Given the description of an element on the screen output the (x, y) to click on. 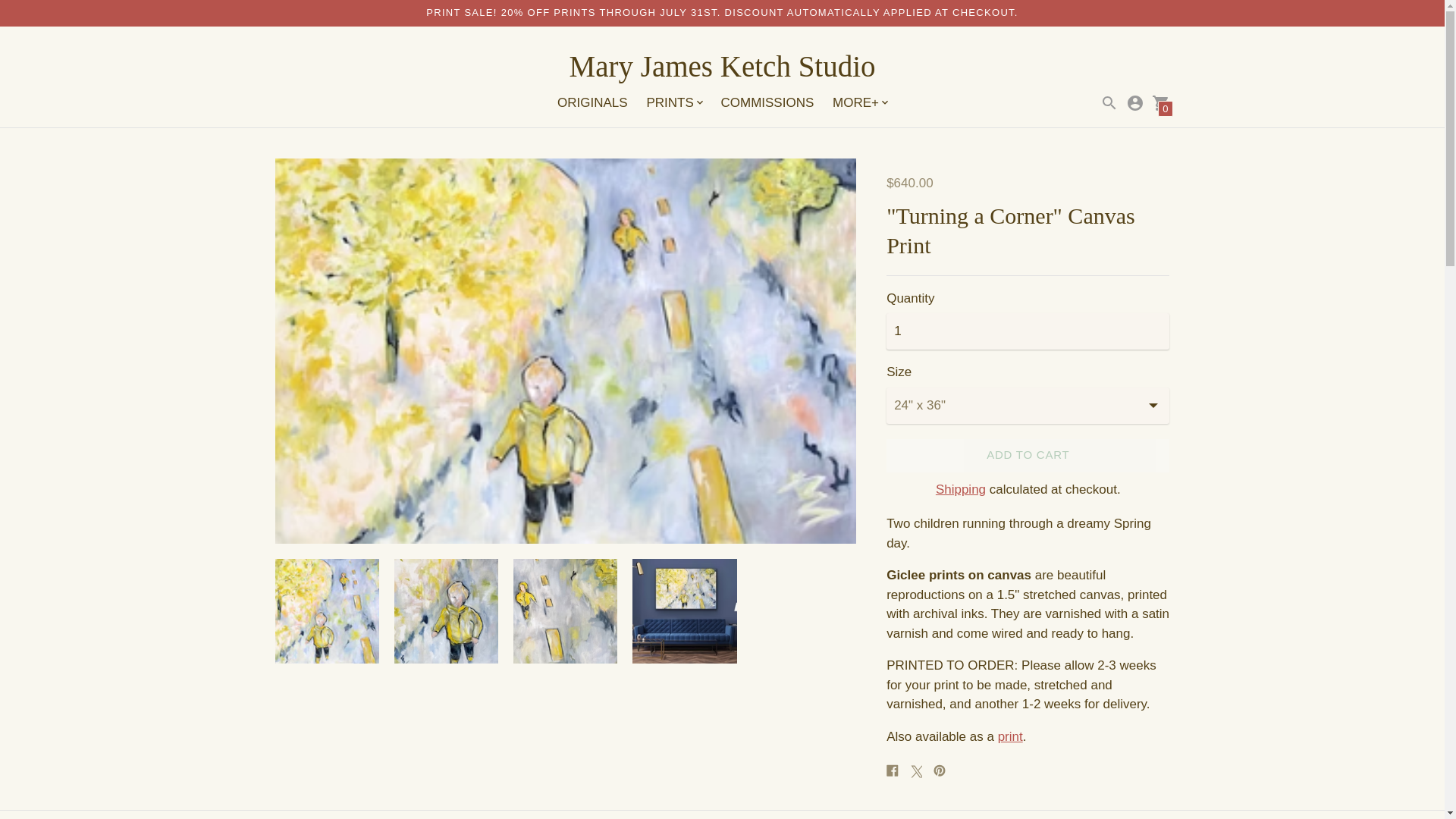
ORIGINALS (592, 102)
COMMISSIONS (766, 102)
Mary James Ketch Studio (722, 66)
PRINTS (673, 103)
0 (1160, 103)
1 (1027, 330)
